Given the description of an element on the screen output the (x, y) to click on. 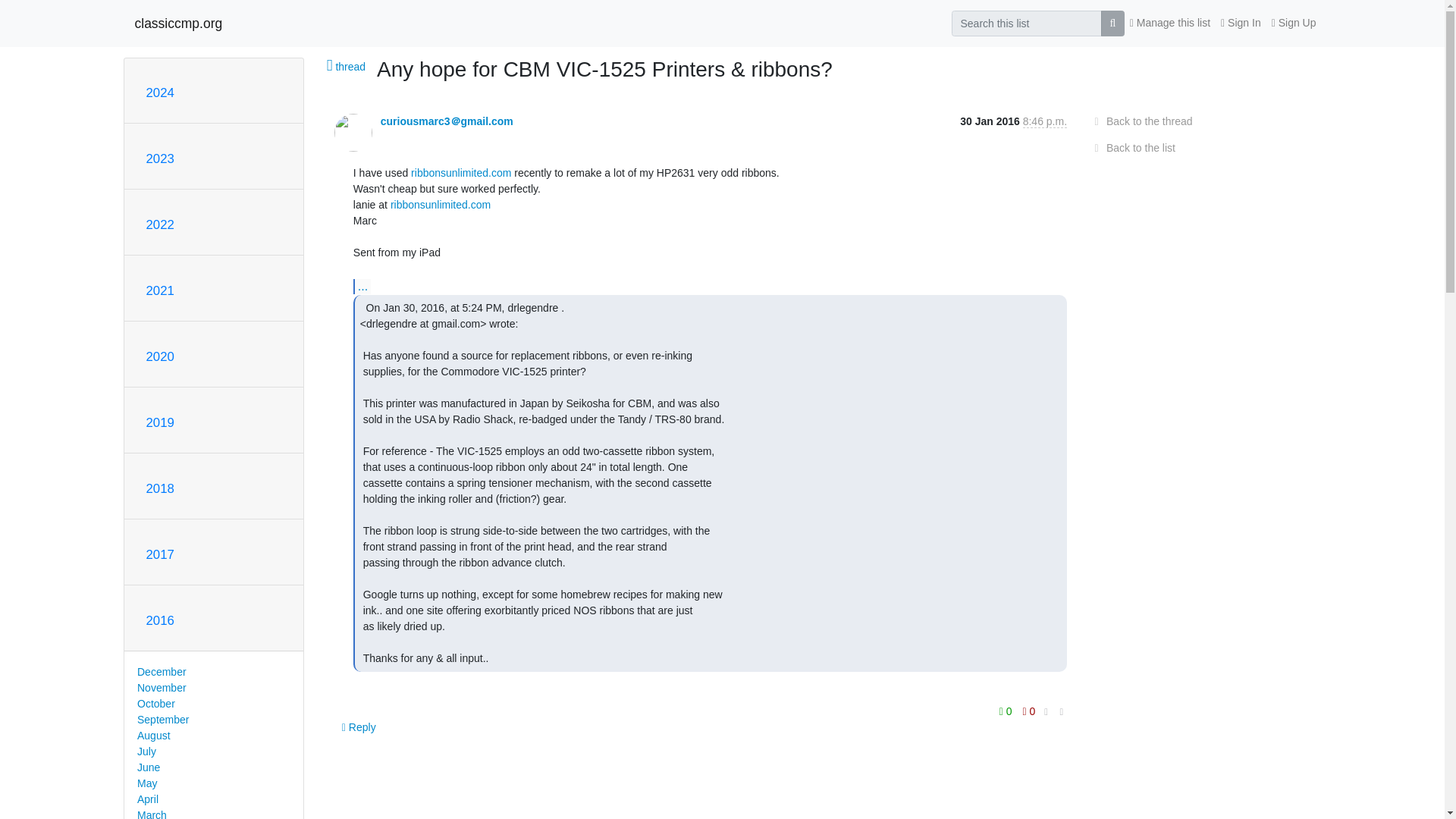
2022 (159, 224)
2023 (159, 158)
You must be logged-in to vote. (1029, 711)
2024 (159, 92)
Sign In (1240, 22)
Sender's time: Jan. 30, 2016, 5:46 p.m. (1045, 121)
Manage this list (1169, 22)
classiccmp.org (178, 22)
Sign Up (1294, 22)
You must be logged-in to vote. (1007, 711)
